Given the description of an element on the screen output the (x, y) to click on. 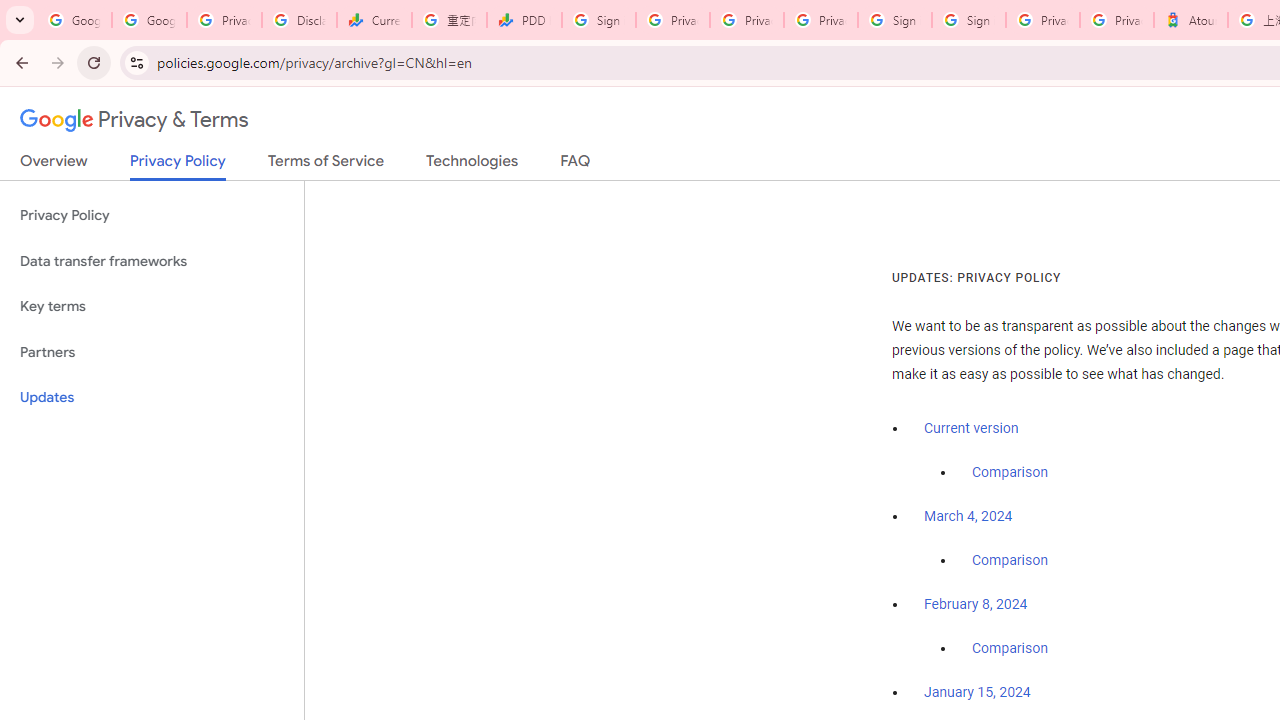
February 8, 2024 (975, 605)
March 4, 2024 (968, 517)
